Given the description of an element on the screen output the (x, y) to click on. 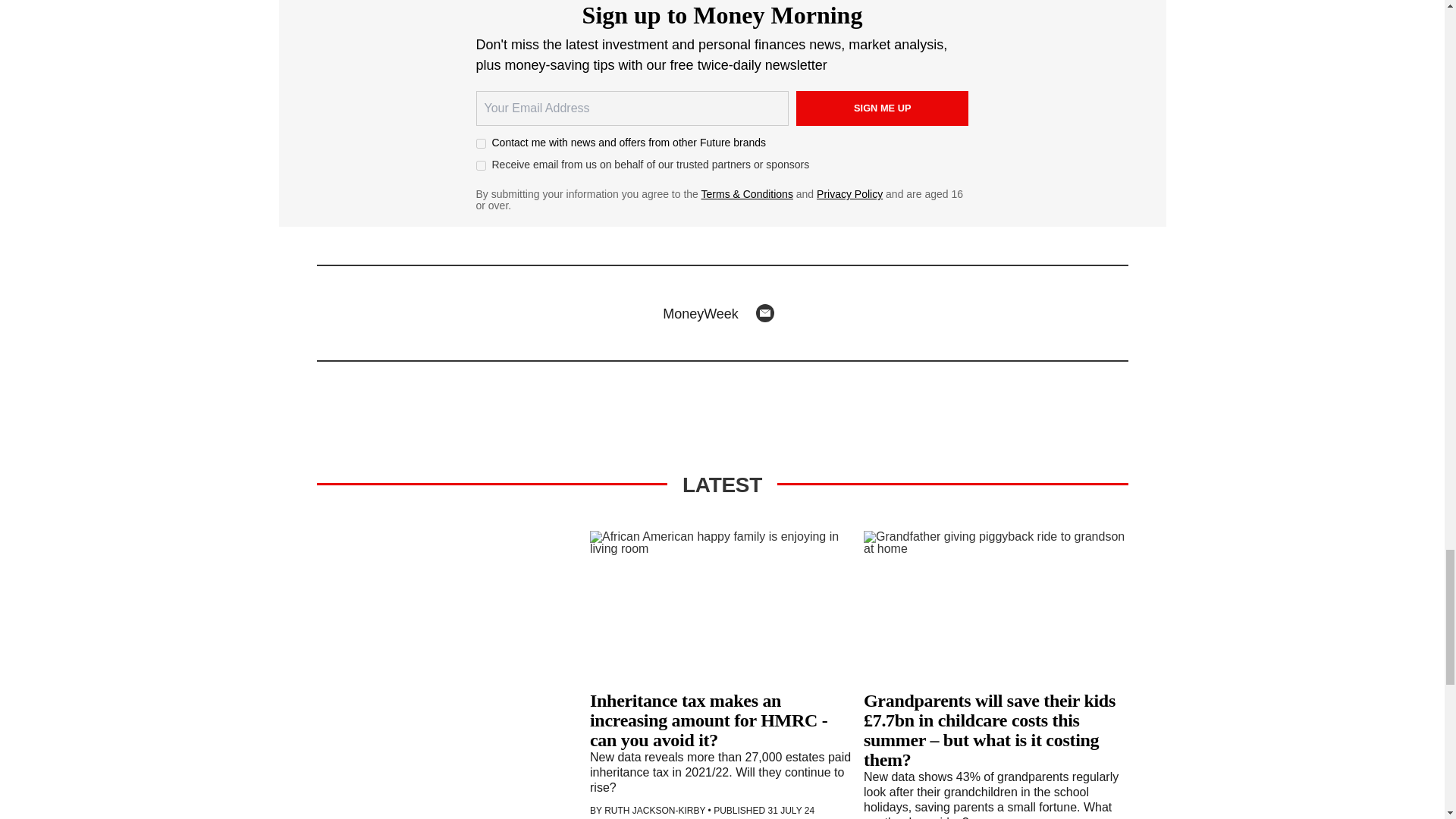
on (481, 143)
Sign me up (882, 108)
on (481, 165)
